Given the description of an element on the screen output the (x, y) to click on. 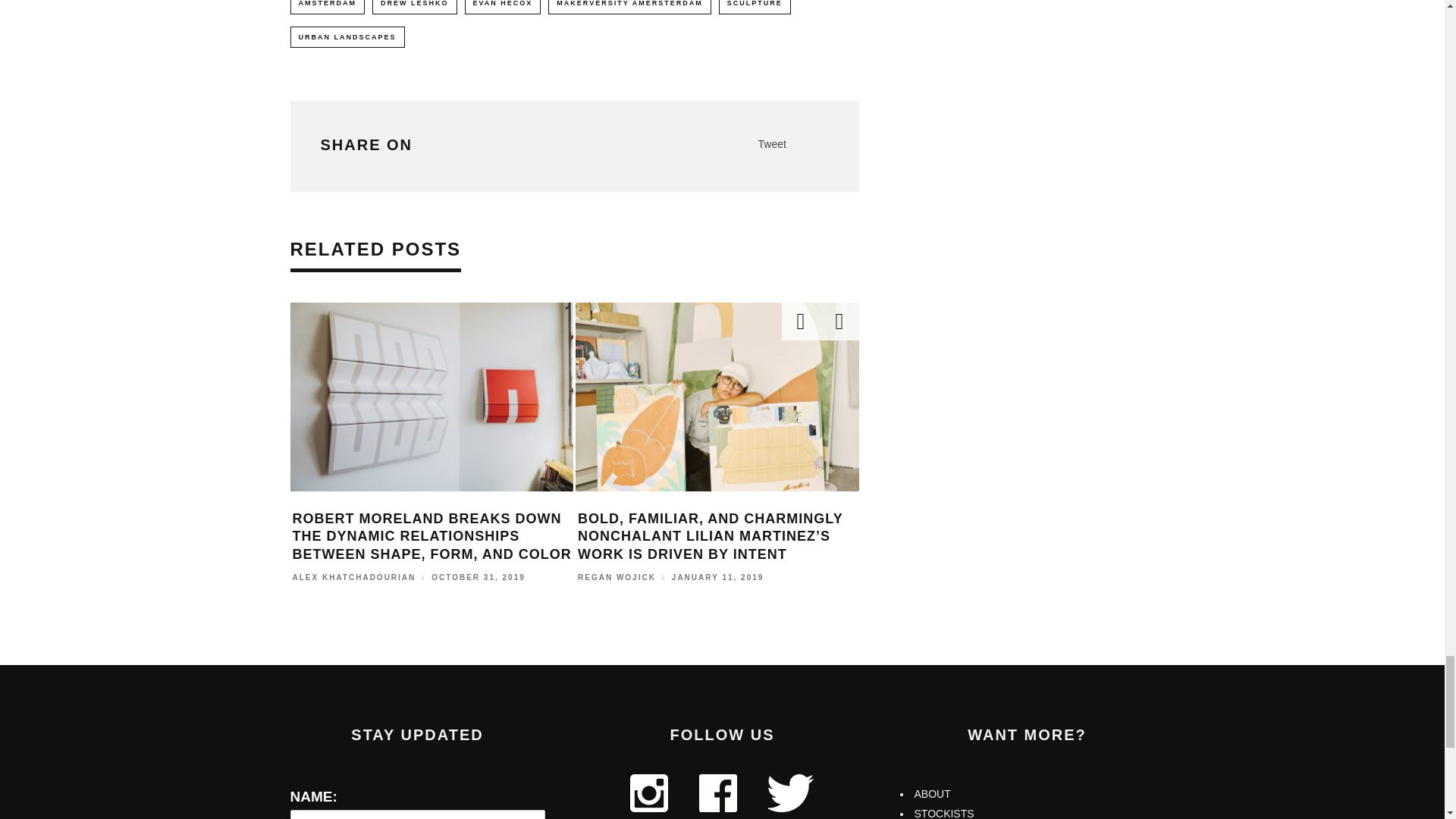
EVAN HECOX (502, 6)
MAKERVERSITY AMERSTERDAM (629, 6)
DREW LESHKO (414, 6)
AMSTERDAM (327, 6)
SCULPTURE (754, 6)
Tweet (772, 143)
URBAN LANDSCAPES (346, 36)
